Given the description of an element on the screen output the (x, y) to click on. 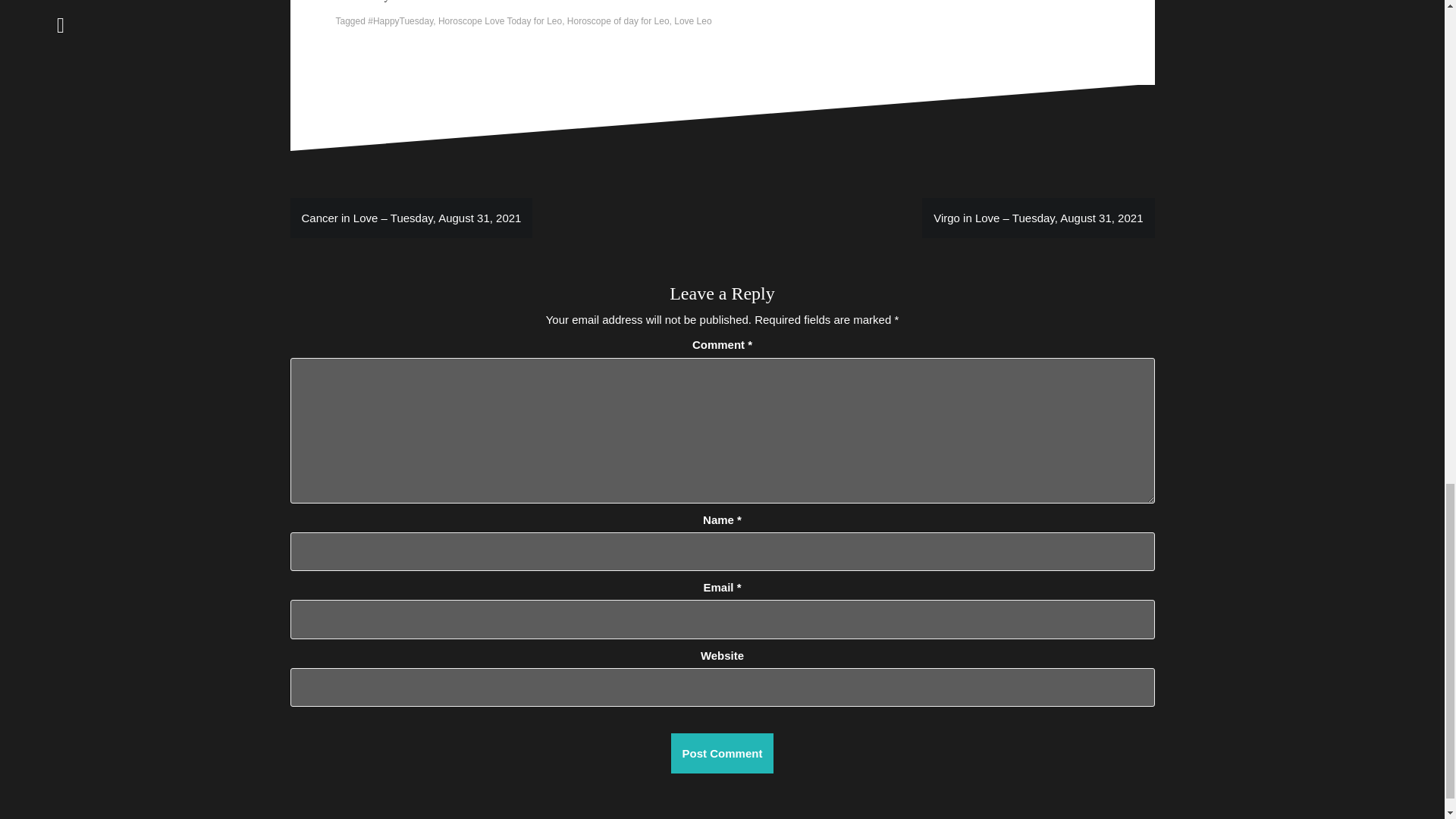
Love Leo (692, 20)
Horoscope of day for Leo (618, 20)
Horoscope Love Today for Leo (500, 20)
Post Comment (722, 753)
Post Comment (722, 753)
